Given the description of an element on the screen output the (x, y) to click on. 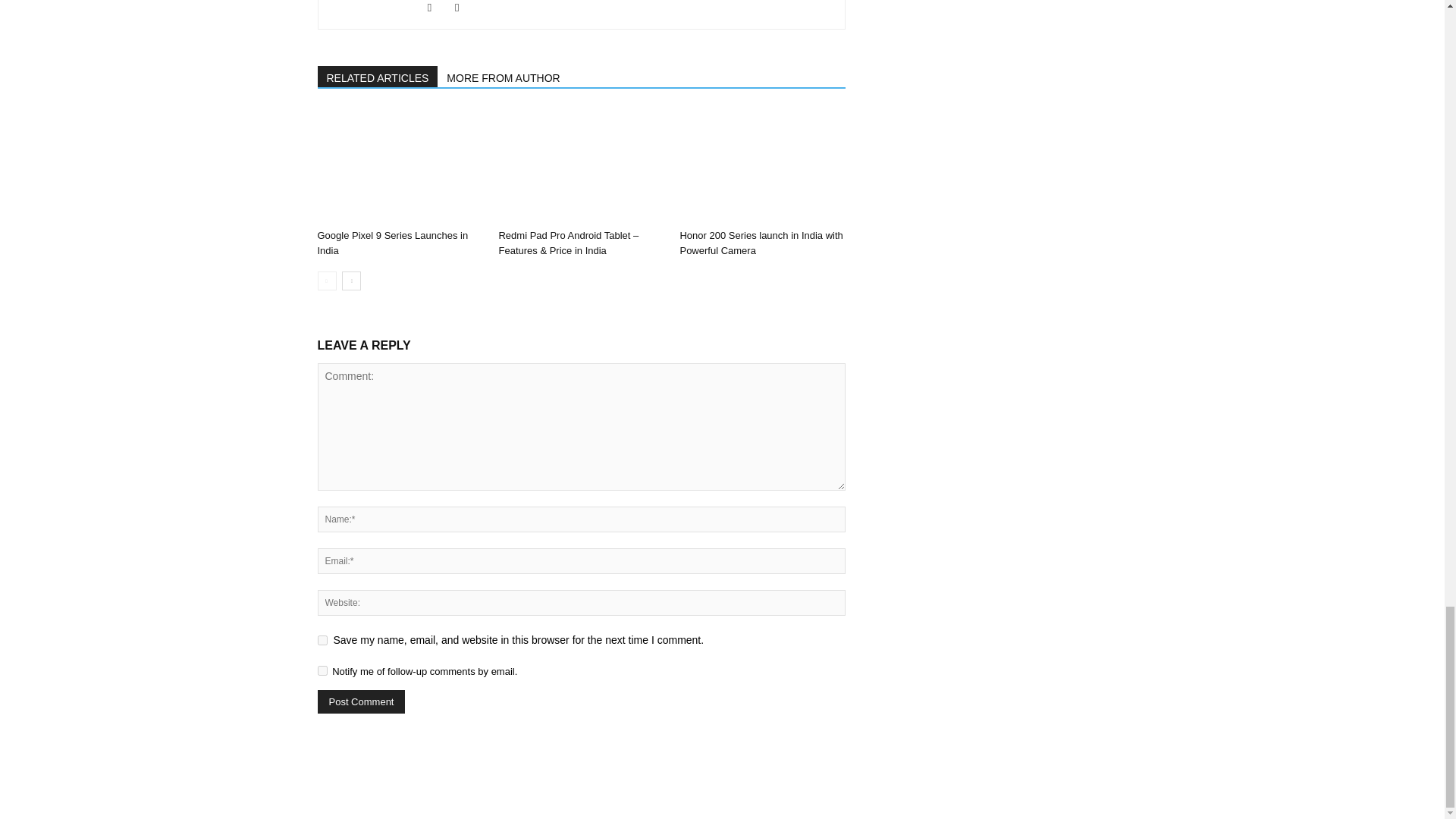
yes (321, 640)
subscribe (321, 670)
Post Comment (360, 701)
